Given the description of an element on the screen output the (x, y) to click on. 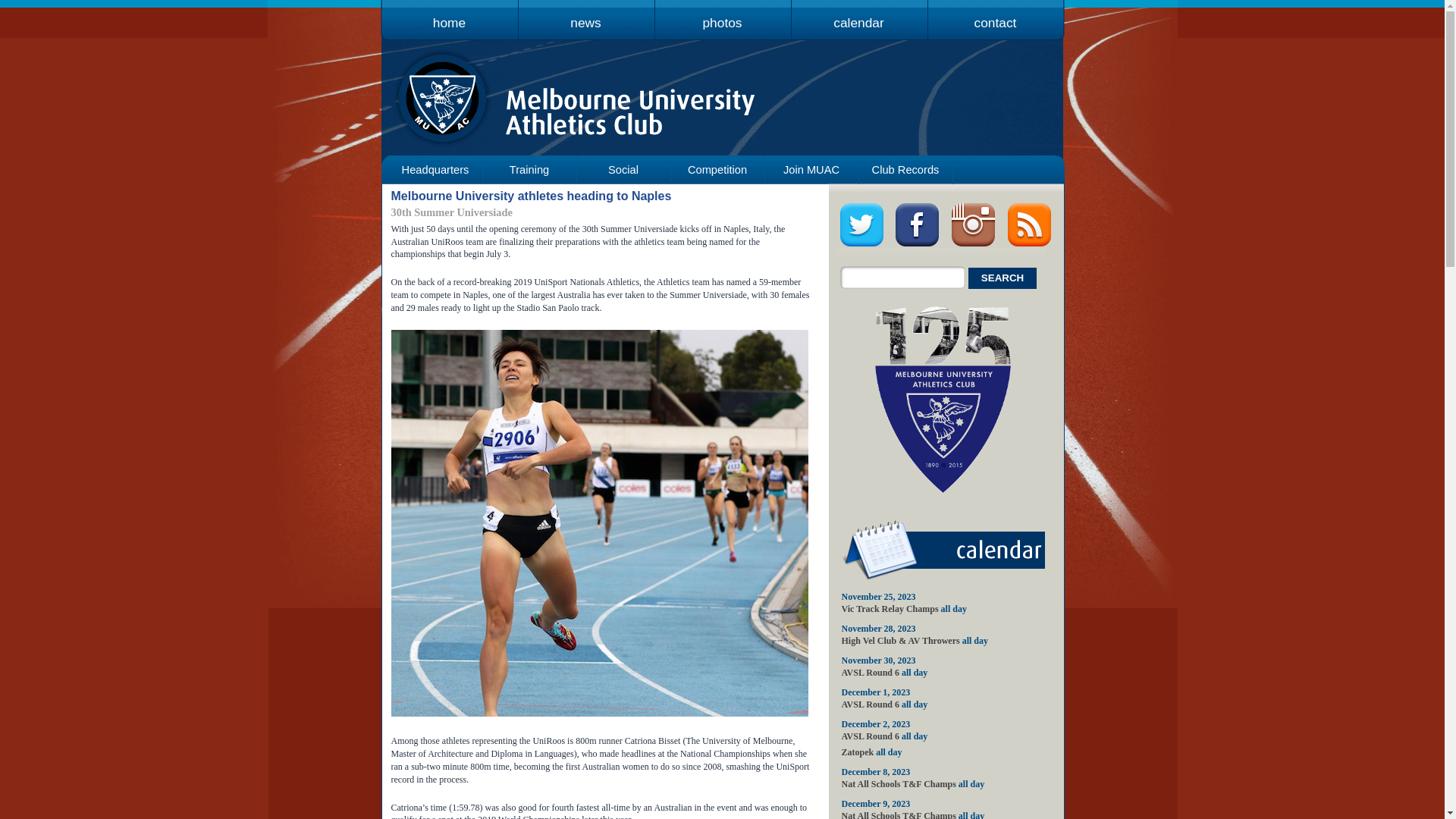
Headquarters Element type: text (435, 169)
photos Element type: text (722, 15)
Nat All Schools T&F Champs Element type: text (898, 783)
Vic Track Relay Champs Element type: text (889, 608)
Melbourne University Athletics Club Element type: text (585, 107)
home Element type: text (449, 15)
news Element type: text (585, 15)
Social Element type: text (623, 169)
calendar Element type: text (858, 15)
AVSL Round 6 Element type: text (870, 704)
visit us on facebook Element type: hover (916, 243)
follow us on twitter Element type: hover (861, 243)
Competition Element type: text (717, 169)
Join MUAC Element type: text (811, 169)
AVSL Round 6 Element type: text (870, 672)
Training Element type: text (529, 169)
High Vel Club & AV Throwers Element type: text (900, 640)
SEARCH Element type: text (1002, 277)
follow us on instagram Element type: hover (972, 243)
AVSL Round 6 Element type: text (870, 736)
Melbourne University athletes heading to Naples Element type: text (531, 195)
Club Records Element type: text (905, 169)
contact Element type: text (995, 15)
RSS Feed Element type: hover (1029, 243)
Zatopek Element type: text (857, 751)
